Given the description of an element on the screen output the (x, y) to click on. 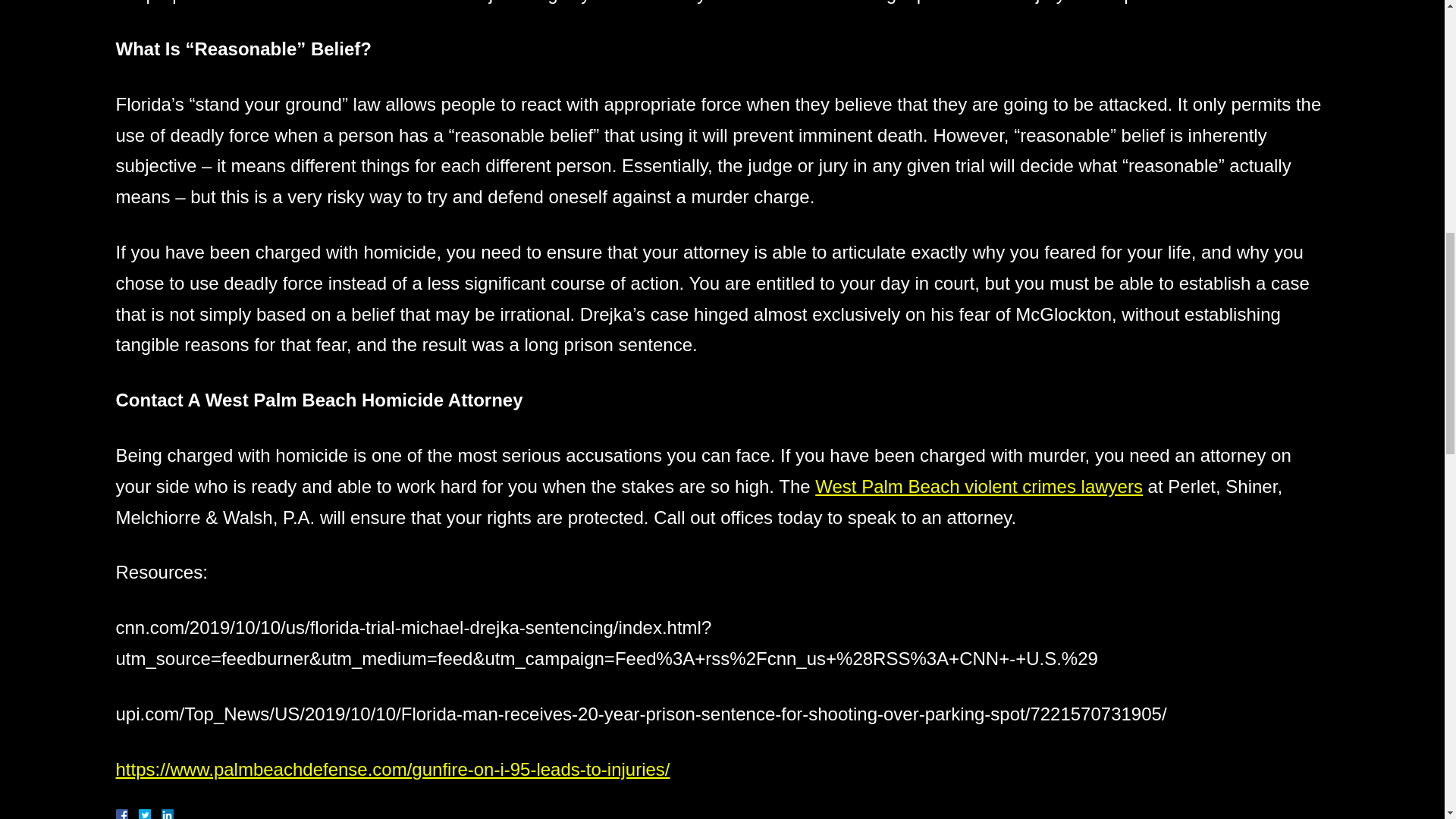
Facebook (139, 814)
LinkedIn (160, 814)
Twitter (149, 814)
